Given the description of an element on the screen output the (x, y) to click on. 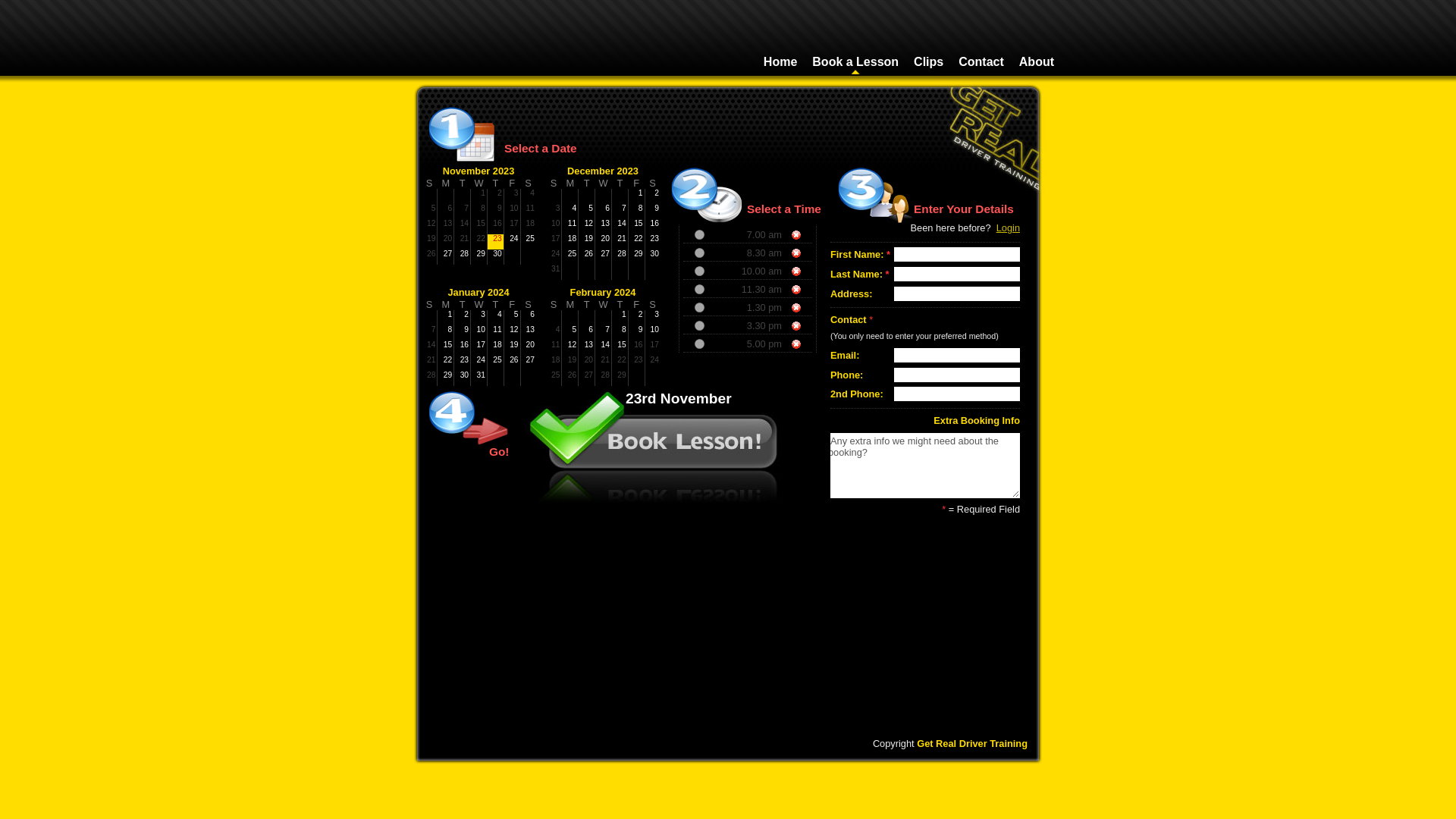
5 Element type: text (569, 332)
15 Element type: text (445, 347)
30 Element type: text (652, 256)
5 Element type: text (512, 317)
20 Element type: text (603, 241)
3.30 pm Element type: text (747, 325)
26 Element type: text (512, 362)
24 Element type: text (478, 362)
25 Element type: text (495, 362)
13 Element type: text (603, 226)
About Element type: text (1036, 62)
2 Element type: text (636, 317)
5.00 pm Element type: text (773, 344)
26 Element type: text (586, 256)
23 Element type: text (495, 241)
1.30 pm Element type: text (773, 308)
20 Element type: text (528, 347)
11 Element type: text (569, 226)
28 Element type: text (462, 256)
8 Element type: text (636, 211)
18 Element type: text (495, 347)
14 Element type: text (619, 226)
2 Element type: text (652, 195)
6 Element type: text (603, 211)
4 Element type: text (495, 317)
25 Element type: text (528, 241)
1 Element type: text (636, 195)
10 Element type: text (478, 332)
3 Element type: text (652, 317)
1 Element type: text (445, 317)
30 Element type: text (462, 377)
7 Element type: text (619, 211)
7.00 am Element type: text (773, 235)
23 Element type: text (652, 241)
19 Element type: text (586, 241)
25 Element type: text (569, 256)
6 Element type: text (528, 317)
7.00 am Element type: text (747, 234)
21 Element type: text (619, 241)
12 Element type: text (586, 226)
29 Element type: text (478, 256)
14 Element type: text (603, 347)
10.00 am Element type: text (770, 271)
Login Element type: text (1007, 227)
12 Element type: text (512, 332)
1 Element type: text (619, 317)
17 Element type: text (478, 347)
Book a Lesson Element type: text (855, 62)
2 Element type: text (462, 317)
11 Element type: text (495, 332)
10.00 am Element type: text (747, 270)
Clips Element type: text (928, 62)
13 Element type: text (586, 347)
30 Element type: text (495, 256)
Home Element type: text (780, 62)
7 Element type: text (603, 332)
9 Element type: text (652, 211)
22 Element type: text (636, 241)
27 Element type: text (528, 362)
22 Element type: text (445, 362)
5 Element type: text (586, 211)
13 Element type: text (528, 332)
5.00 pm Element type: text (747, 343)
4 Element type: text (569, 211)
8.30 am Element type: text (747, 252)
8 Element type: text (445, 332)
10 Element type: text (652, 332)
31 Element type: text (478, 377)
11.30 am Element type: text (770, 290)
27 Element type: text (445, 256)
29 Element type: text (636, 256)
8.30 am Element type: text (773, 253)
3.30 pm Element type: text (773, 326)
16 Element type: text (652, 226)
15 Element type: text (636, 226)
16 Element type: text (462, 347)
8 Element type: text (619, 332)
23 Element type: text (462, 362)
28 Element type: text (619, 256)
24 Element type: text (512, 241)
19 Element type: text (512, 347)
6 Element type: text (586, 332)
Contact Element type: text (980, 62)
18 Element type: text (569, 241)
12 Element type: text (569, 347)
11.30 am Element type: text (747, 288)
15 Element type: text (619, 347)
3 Element type: text (478, 317)
9 Element type: text (636, 332)
9 Element type: text (462, 332)
29 Element type: text (445, 377)
1.30 pm Element type: text (747, 307)
27 Element type: text (603, 256)
Submit Booking Element type: text (981, 534)
